Given the description of an element on the screen output the (x, y) to click on. 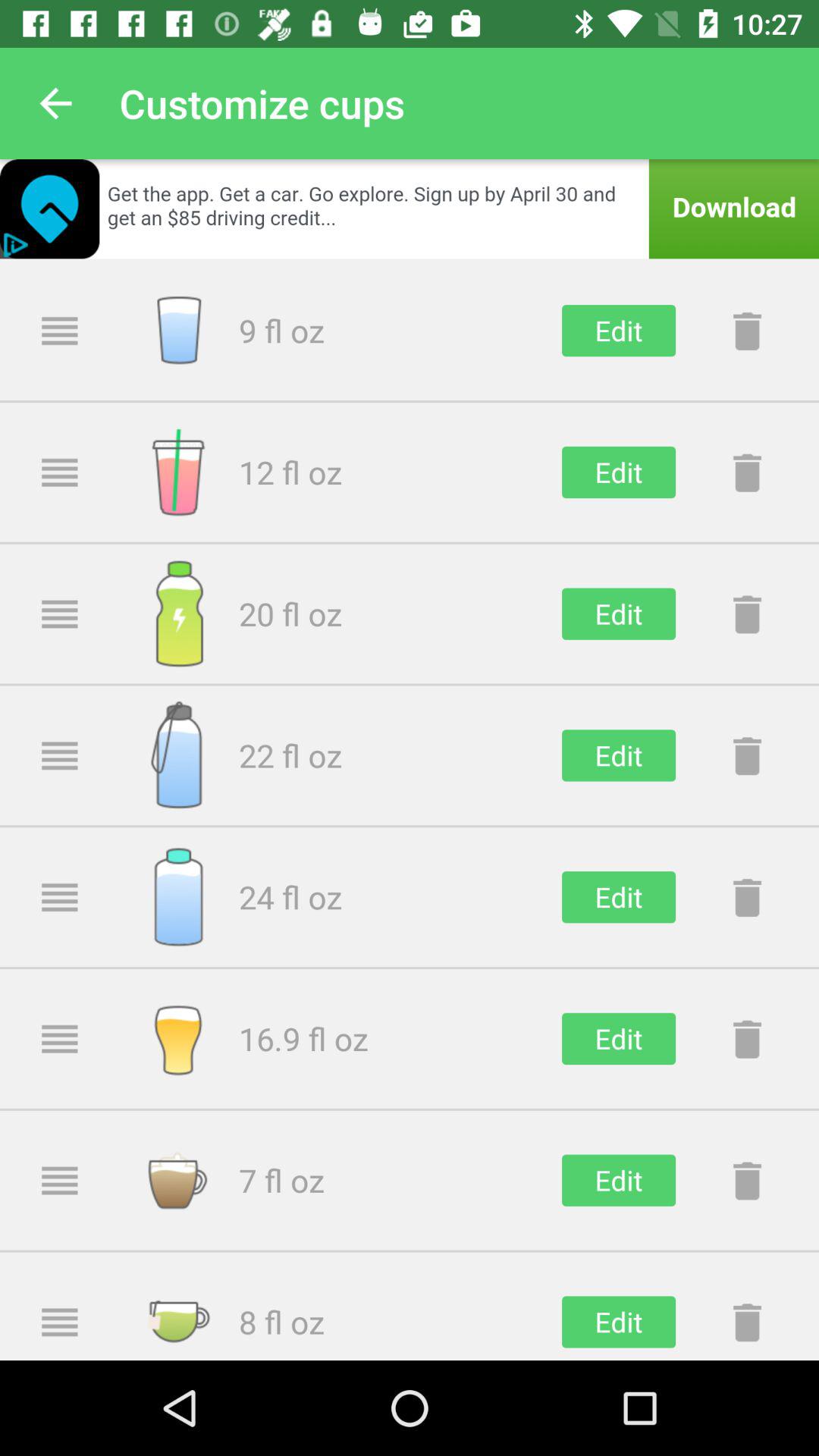
delete button (747, 330)
